Given the description of an element on the screen output the (x, y) to click on. 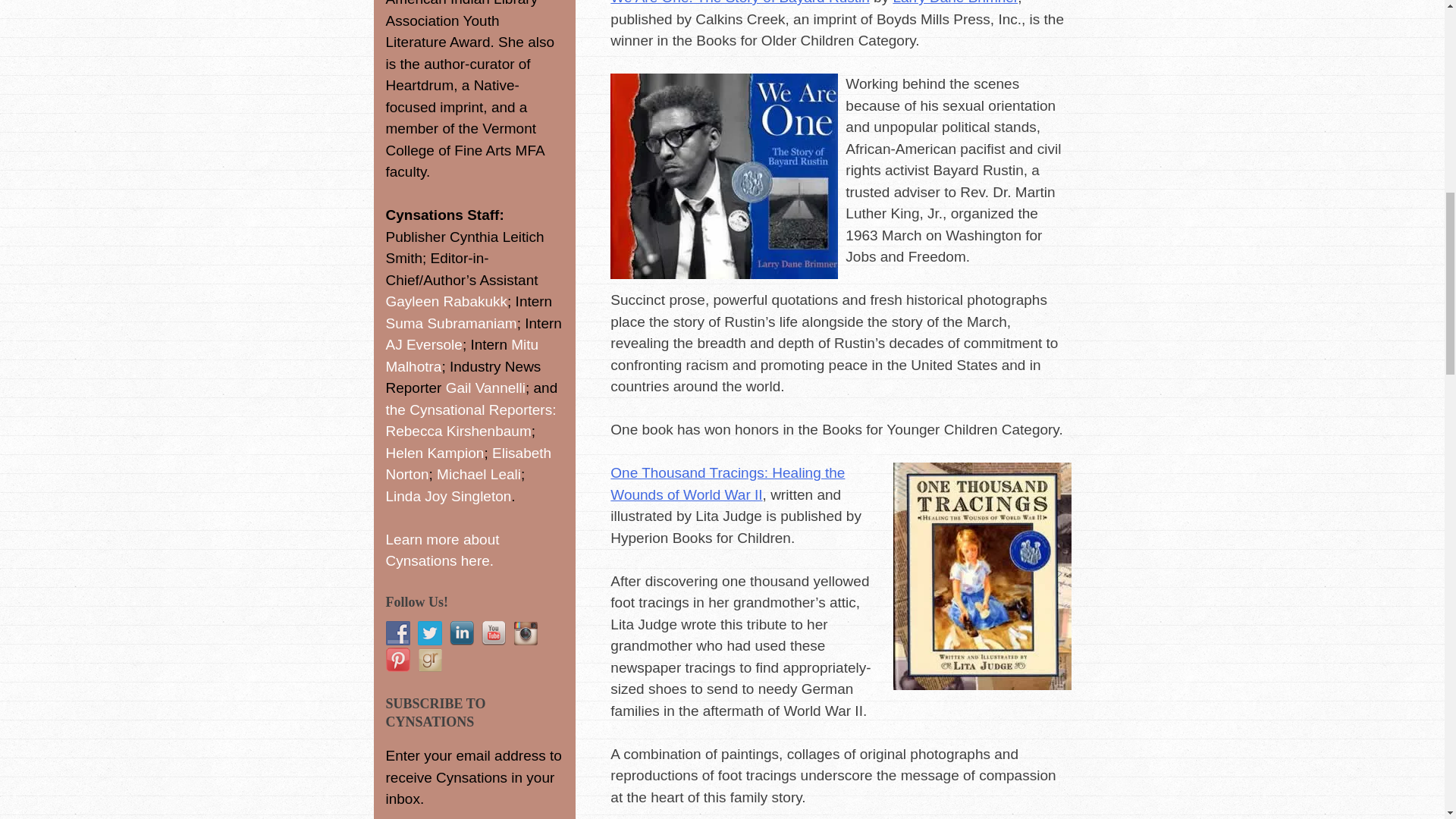
Follow Us on Goodreads (428, 659)
We Are One: The Story of Bayard Rustin (739, 2)
Follow Us on Instagram (524, 632)
Follow Us on Pinterest (397, 659)
One Thousand Tracings: Healing the Wounds of World War II (727, 483)
Larry Dane Brimner (954, 2)
Follow Us on Twitter (428, 632)
Follow Us on LinkedIn (460, 632)
Follow Us on Facebook (397, 632)
Follow Us on YouTube (492, 632)
